Given the description of an element on the screen output the (x, y) to click on. 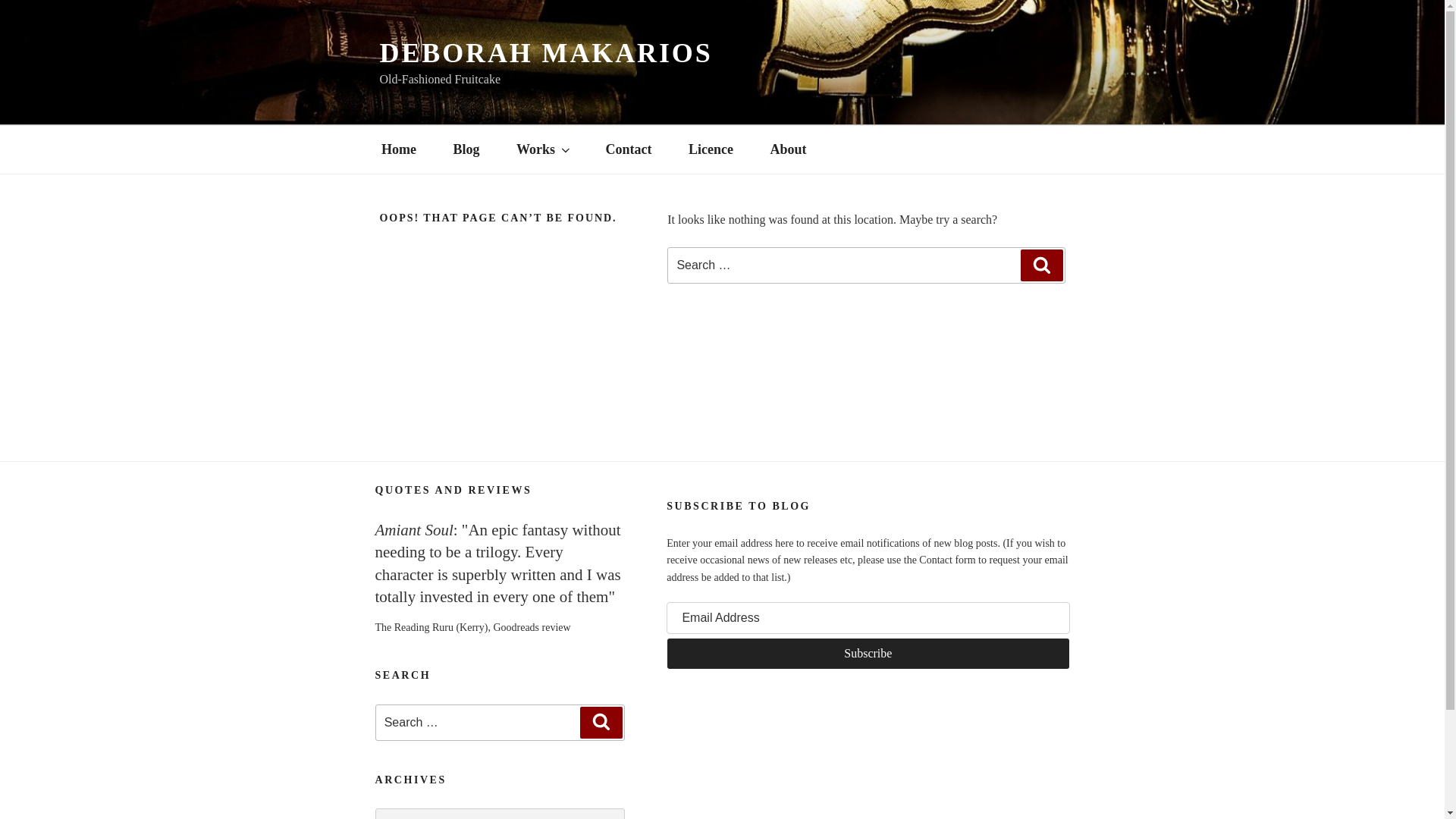
Subscribe (867, 653)
About (788, 149)
Home (398, 149)
Contact (628, 149)
DEBORAH MAKARIOS (544, 52)
Licence (711, 149)
Blog (465, 149)
Search (601, 722)
Search (1041, 265)
Subscribe (867, 653)
